Given the description of an element on the screen output the (x, y) to click on. 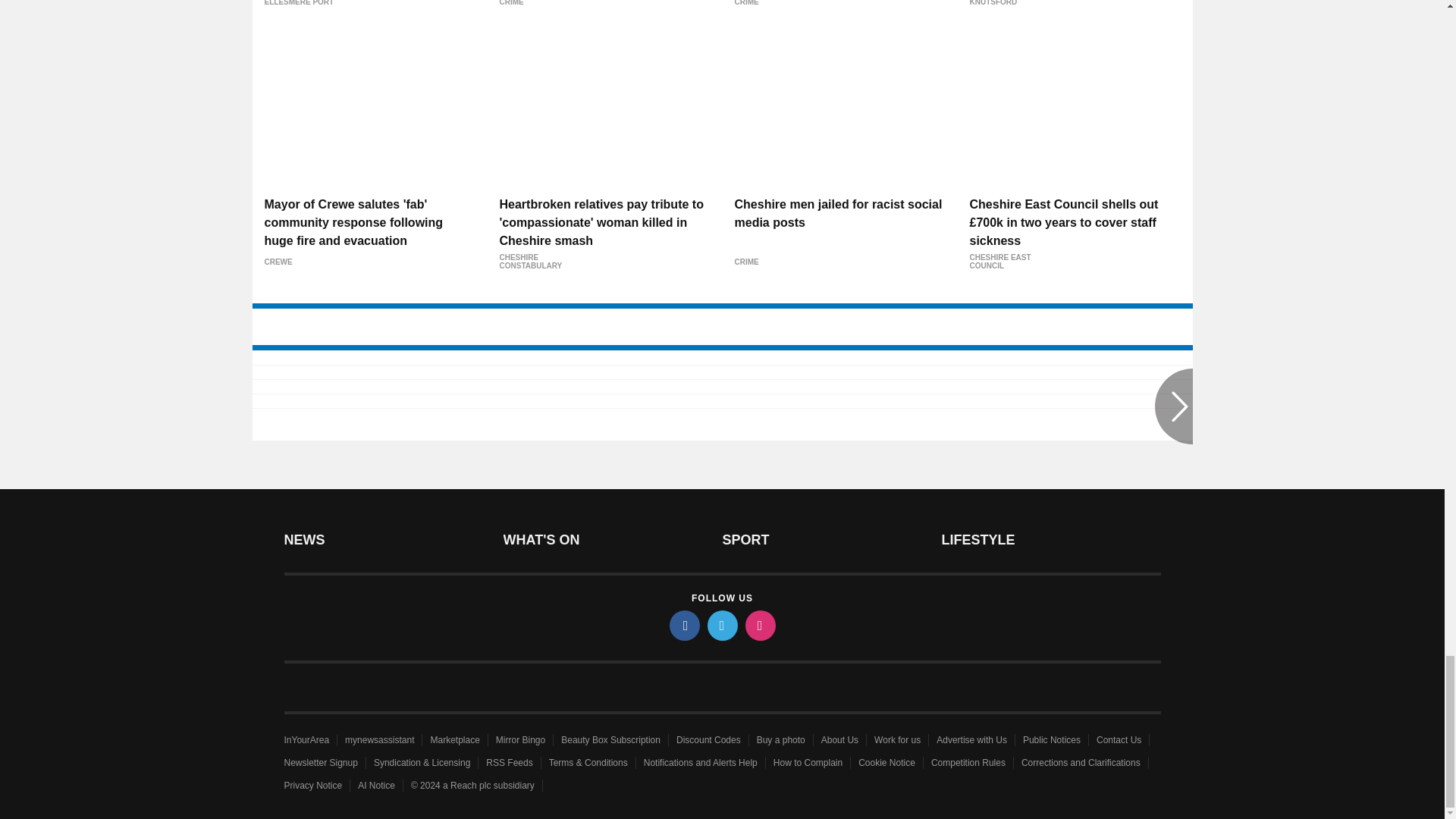
instagram (759, 625)
facebook (683, 625)
twitter (721, 625)
